Given the description of an element on the screen output the (x, y) to click on. 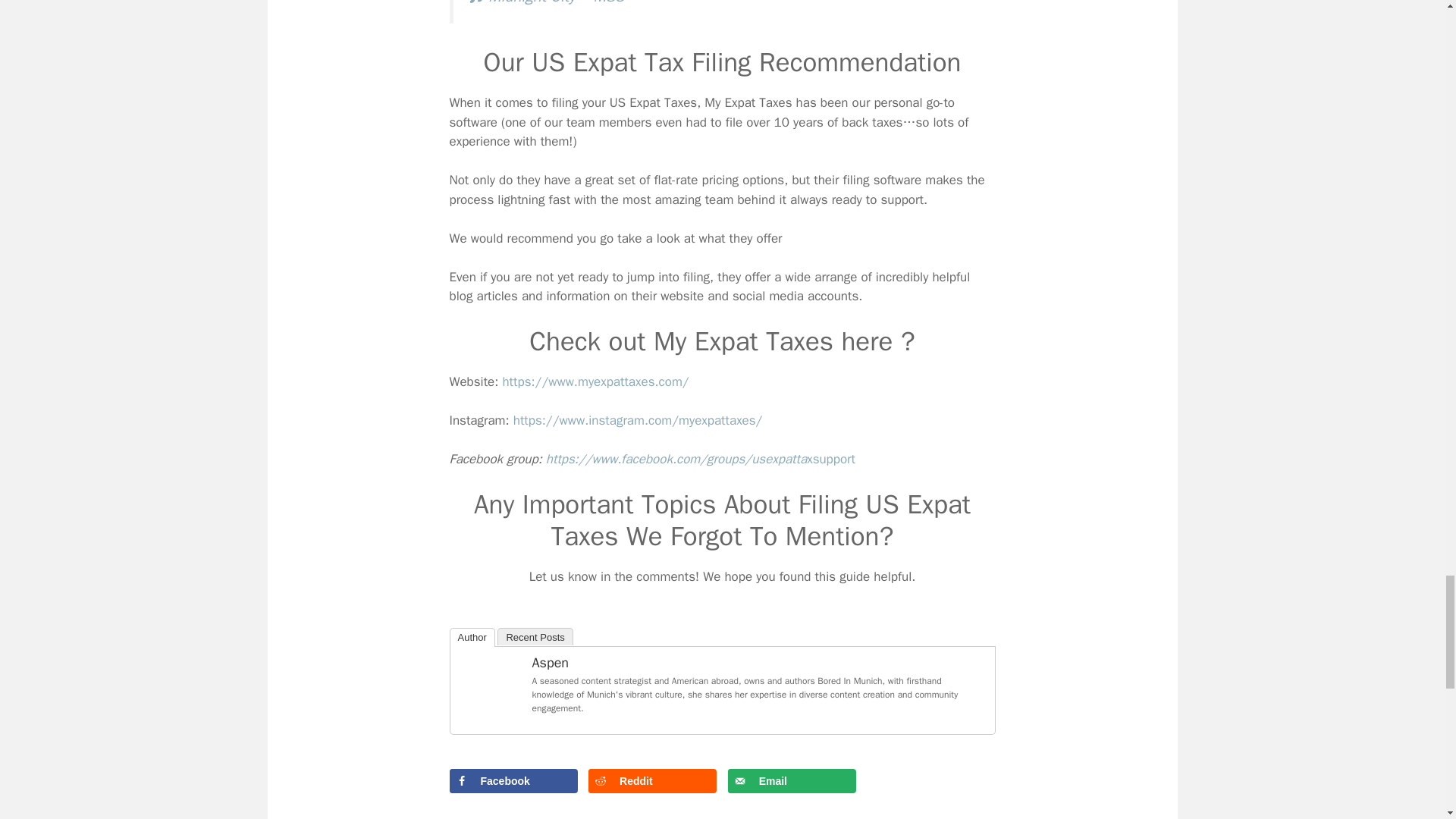
Aspen (489, 712)
The Easiest Way to File Taxes for a US Expat in Germany (489, 686)
